Given the description of an element on the screen output the (x, y) to click on. 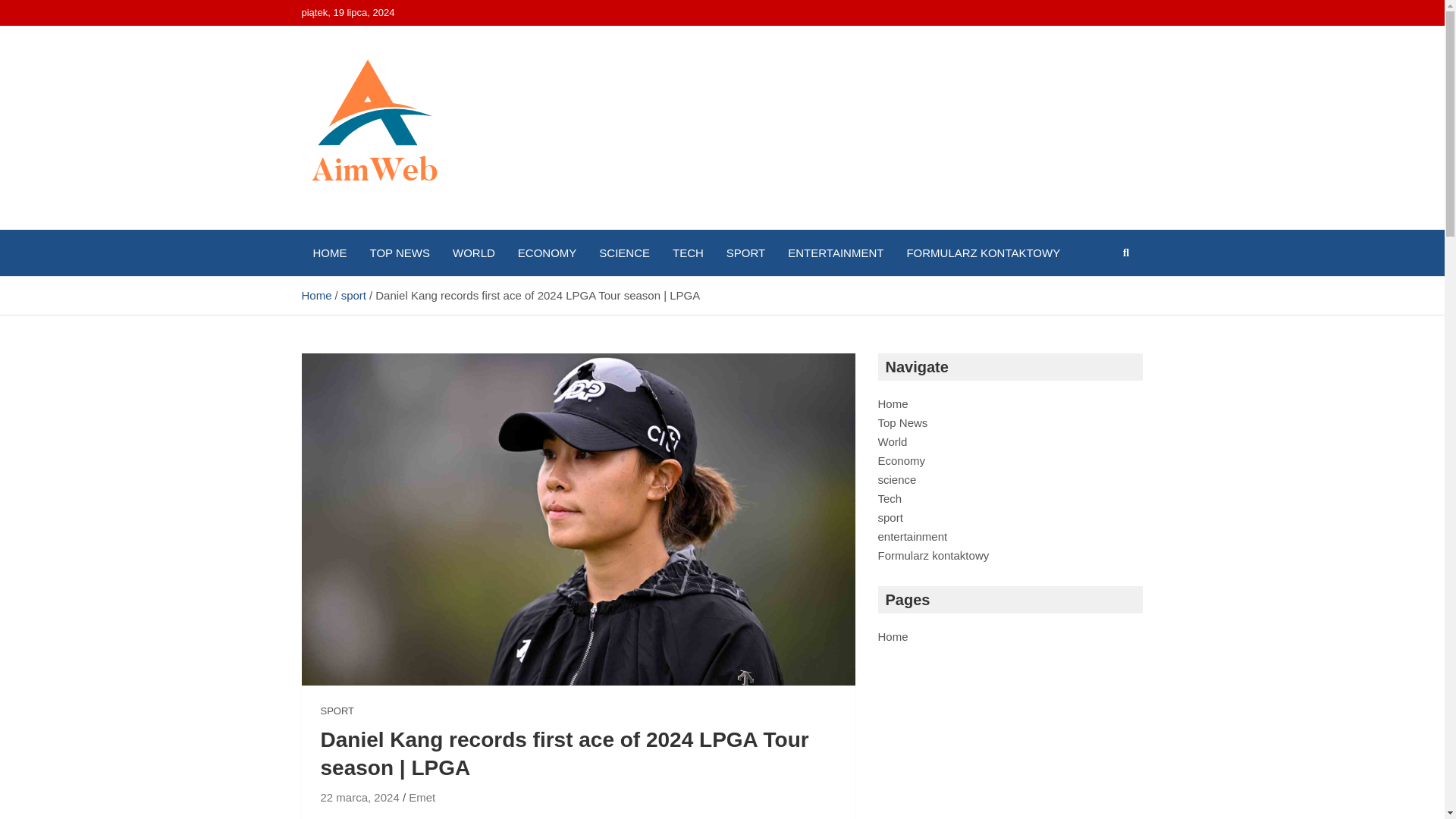
WORLD (473, 253)
Economy (901, 460)
Home (316, 295)
science (897, 479)
Home (892, 635)
TOP NEWS (399, 253)
AimWeb (361, 226)
SPORT (336, 711)
FORMULARZ KONTAKTOWY (983, 253)
Emet (422, 797)
TECH (687, 253)
Home (892, 403)
sport (353, 295)
World (892, 440)
Top News (902, 422)
